Given the description of an element on the screen output the (x, y) to click on. 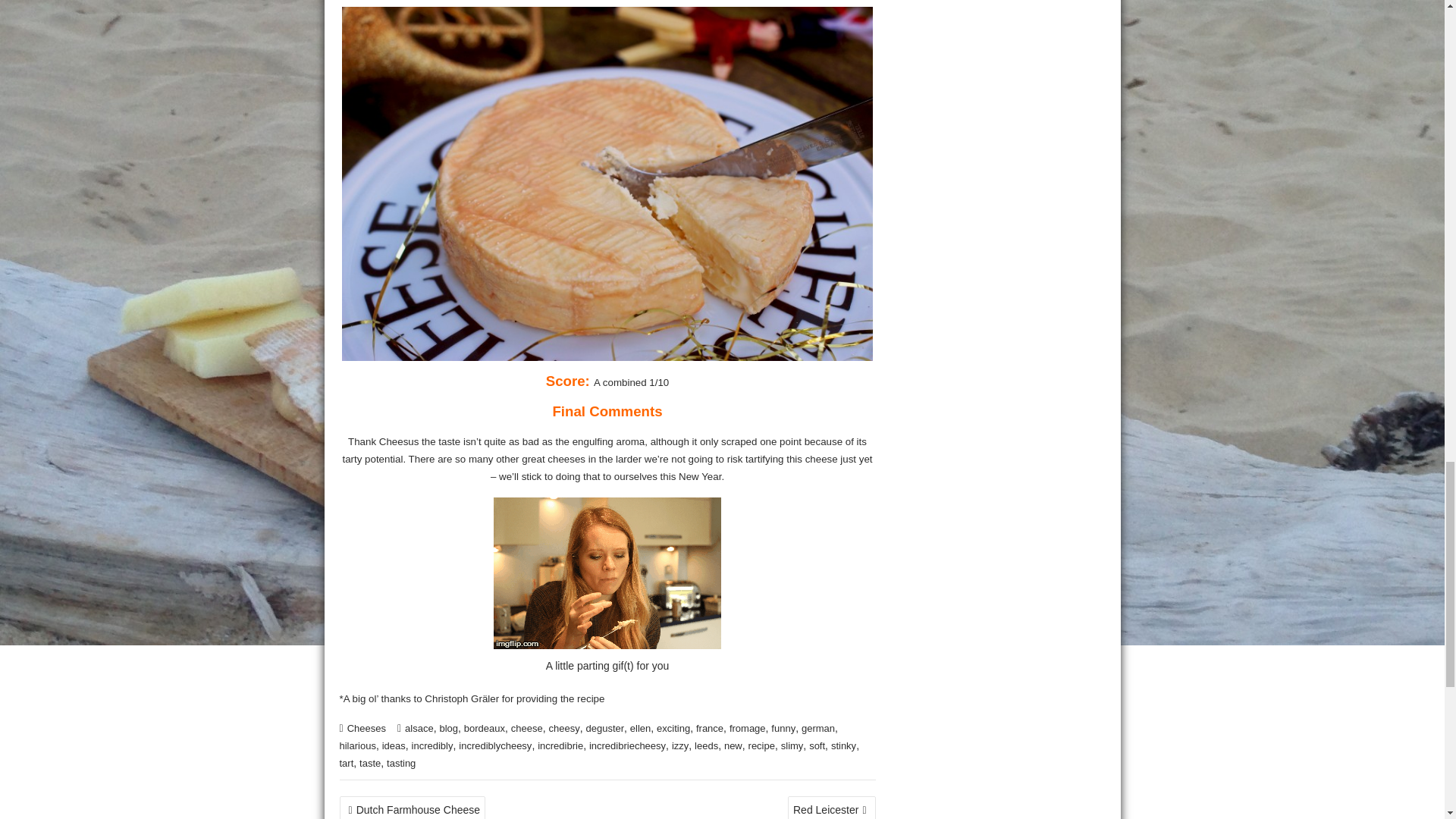
cheesy (563, 727)
alsace (418, 727)
ellen (640, 727)
Cheeses (366, 727)
fromage (747, 727)
hilarious (357, 745)
exciting (673, 727)
deguster (604, 727)
france (709, 727)
blog (448, 727)
incredibriecheesy (627, 745)
izzy (679, 745)
cheese (527, 727)
incrediblycheesy (494, 745)
incredibly (432, 745)
